Given the description of an element on the screen output the (x, y) to click on. 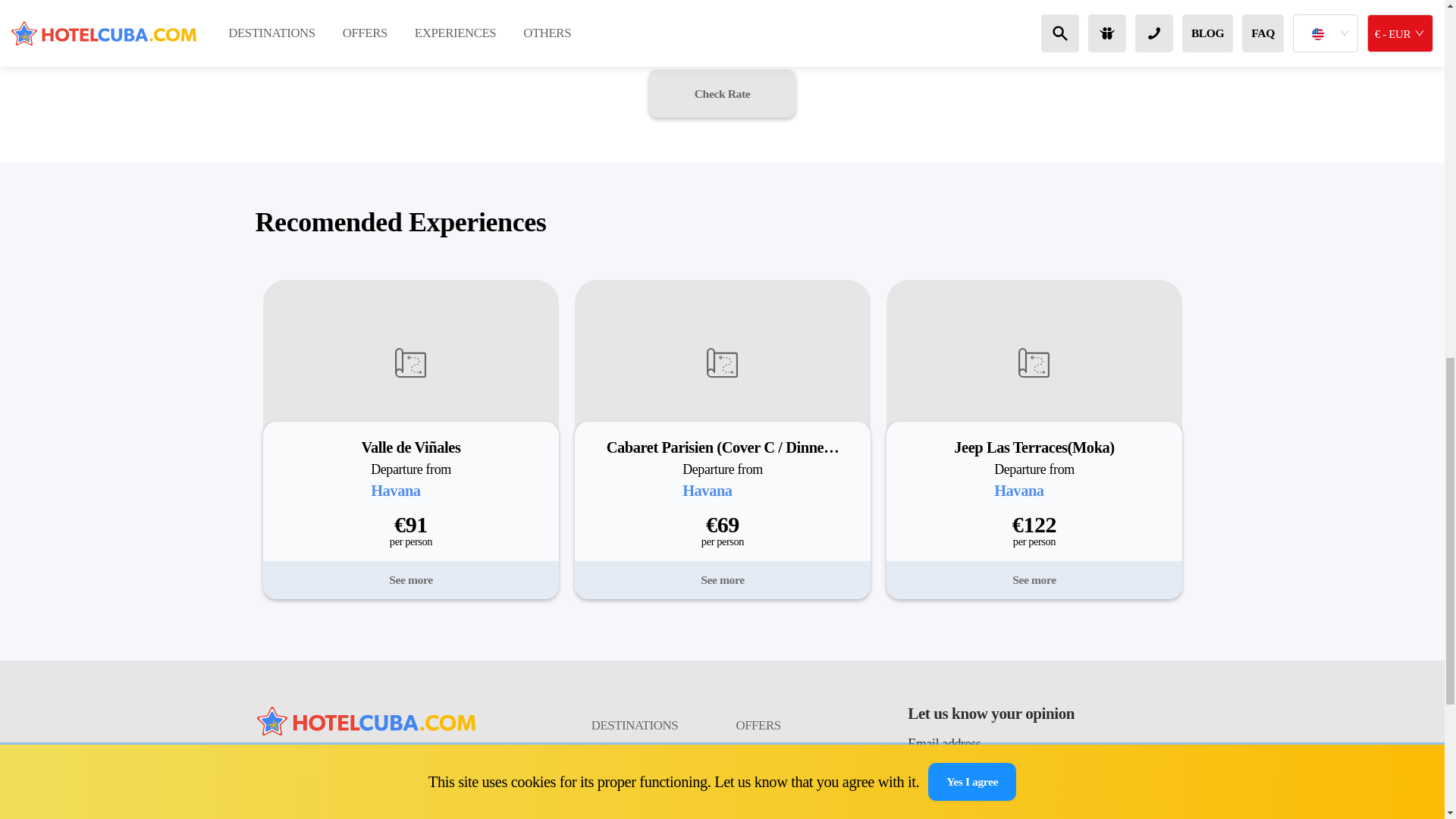
See more (722, 579)
Havana (1018, 490)
See more (1033, 579)
Havana (707, 490)
ABOUT CUBA (793, 766)
PAYMENT GUIDE (793, 805)
See more (410, 579)
EXPERIENCES (649, 766)
Havana (395, 490)
DESTINATIONS (649, 726)
TERMS AND CONDITIONS (649, 805)
OFFERS (793, 726)
Check Rate (721, 93)
